Given the description of an element on the screen output the (x, y) to click on. 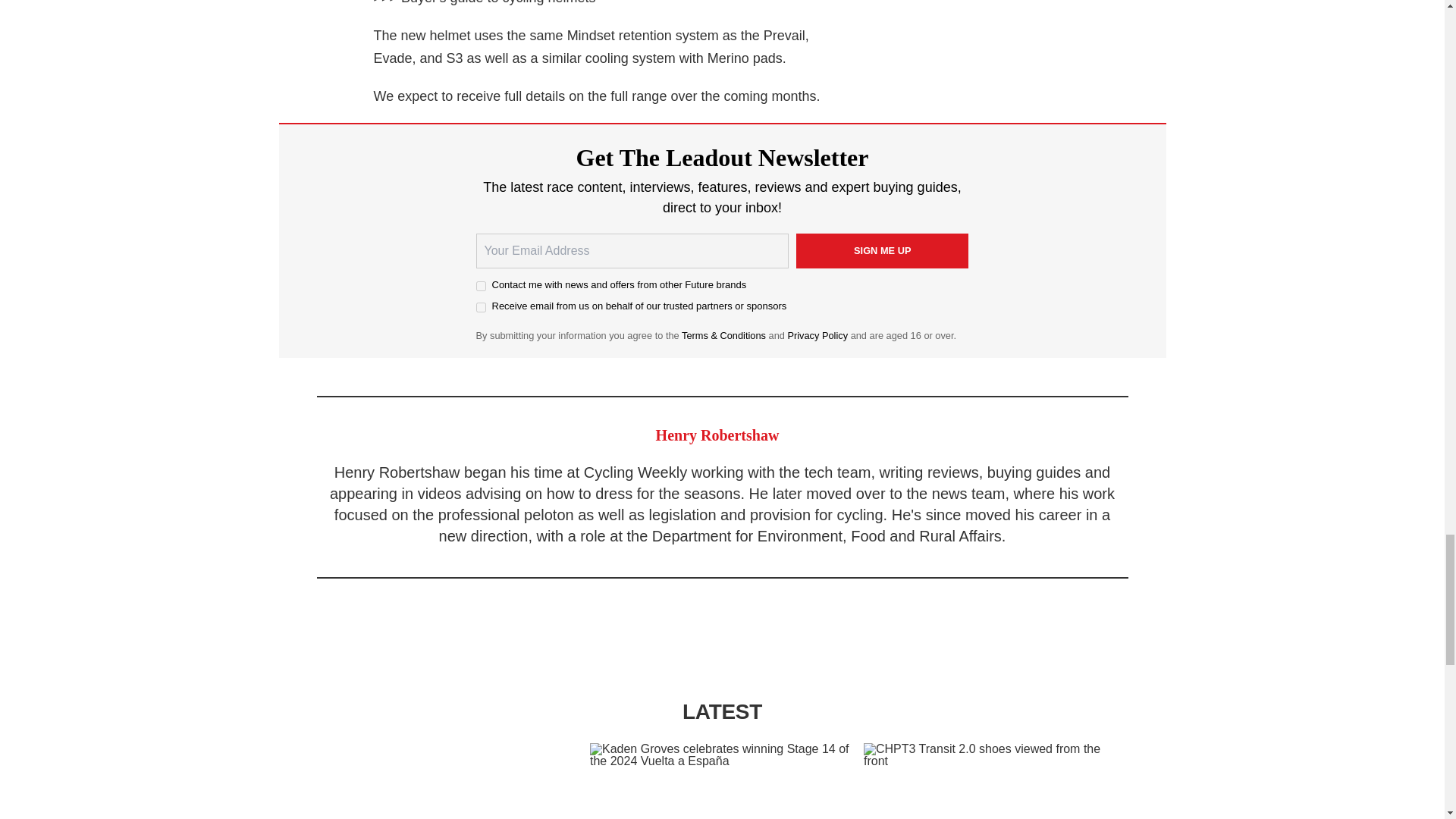
on (481, 286)
Sign me up (882, 250)
on (481, 307)
